Given the description of an element on the screen output the (x, y) to click on. 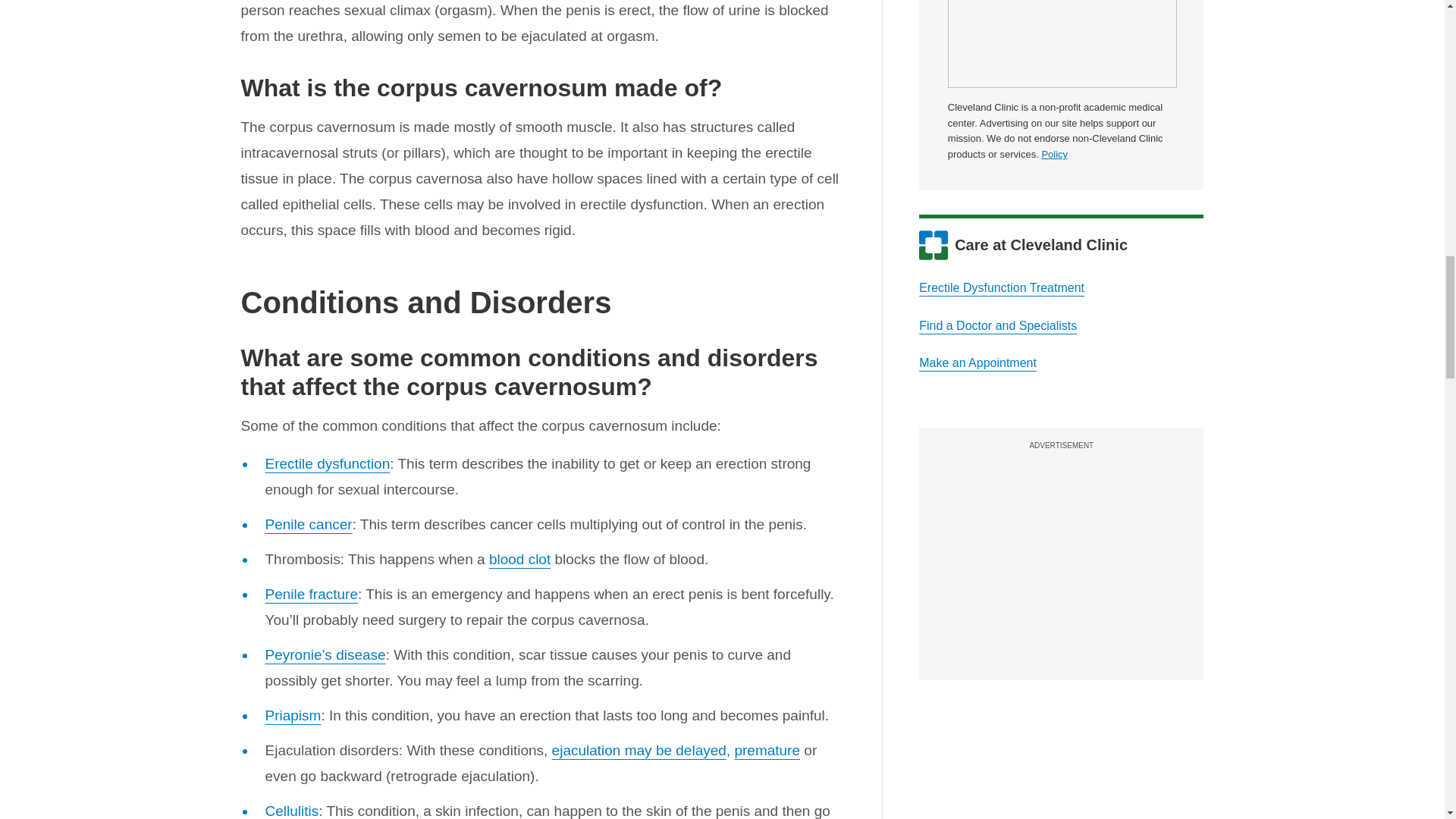
Erectile dysfunction (327, 463)
